Given the description of an element on the screen output the (x, y) to click on. 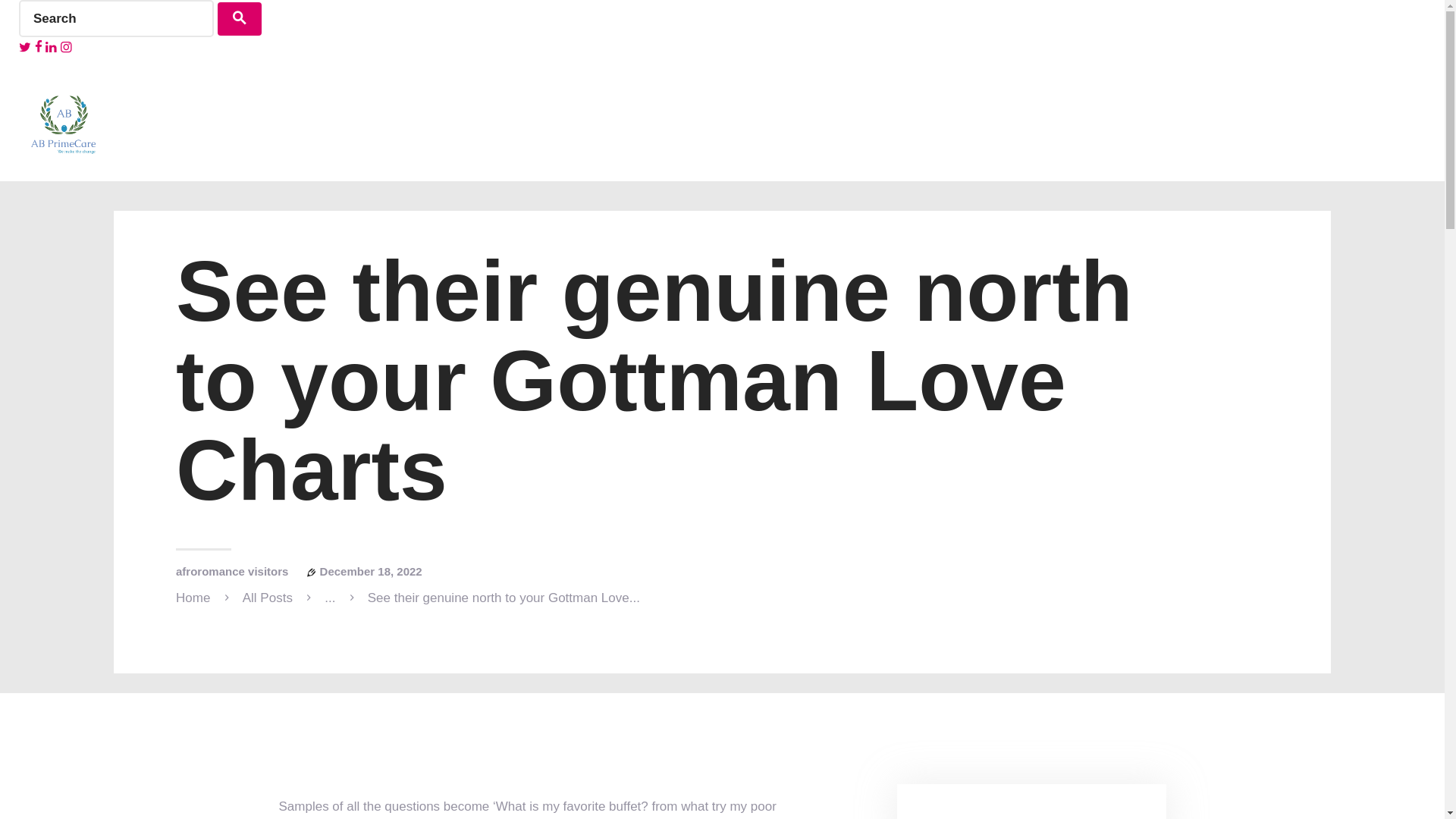
Home (192, 597)
December 18, 2022 (371, 571)
All Posts (267, 597)
afroromance visitors (232, 571)
